Given the description of an element on the screen output the (x, y) to click on. 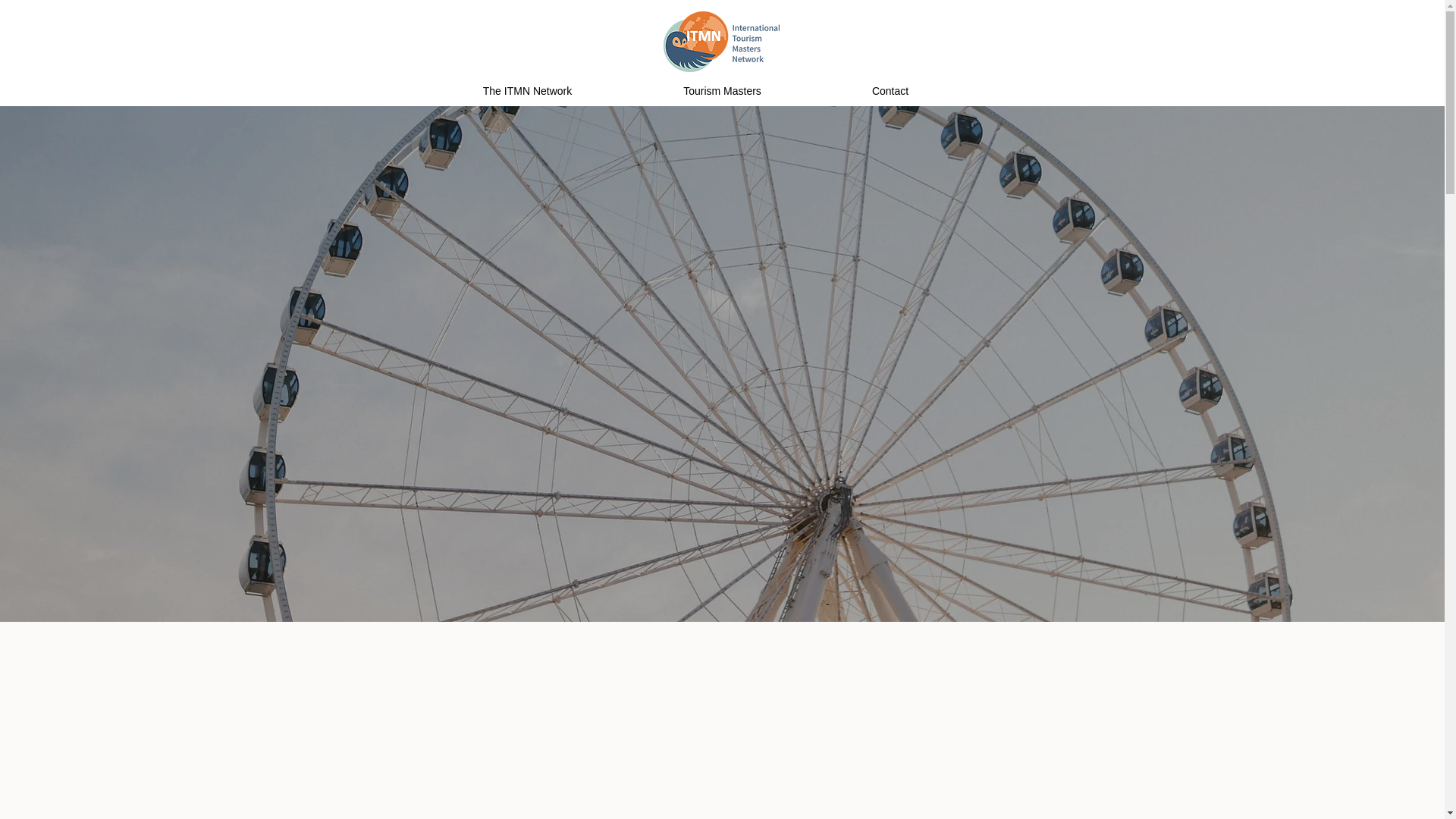
Tourism Masters (721, 90)
Contact (889, 90)
The ITMN Network (526, 90)
